Given the description of an element on the screen output the (x, y) to click on. 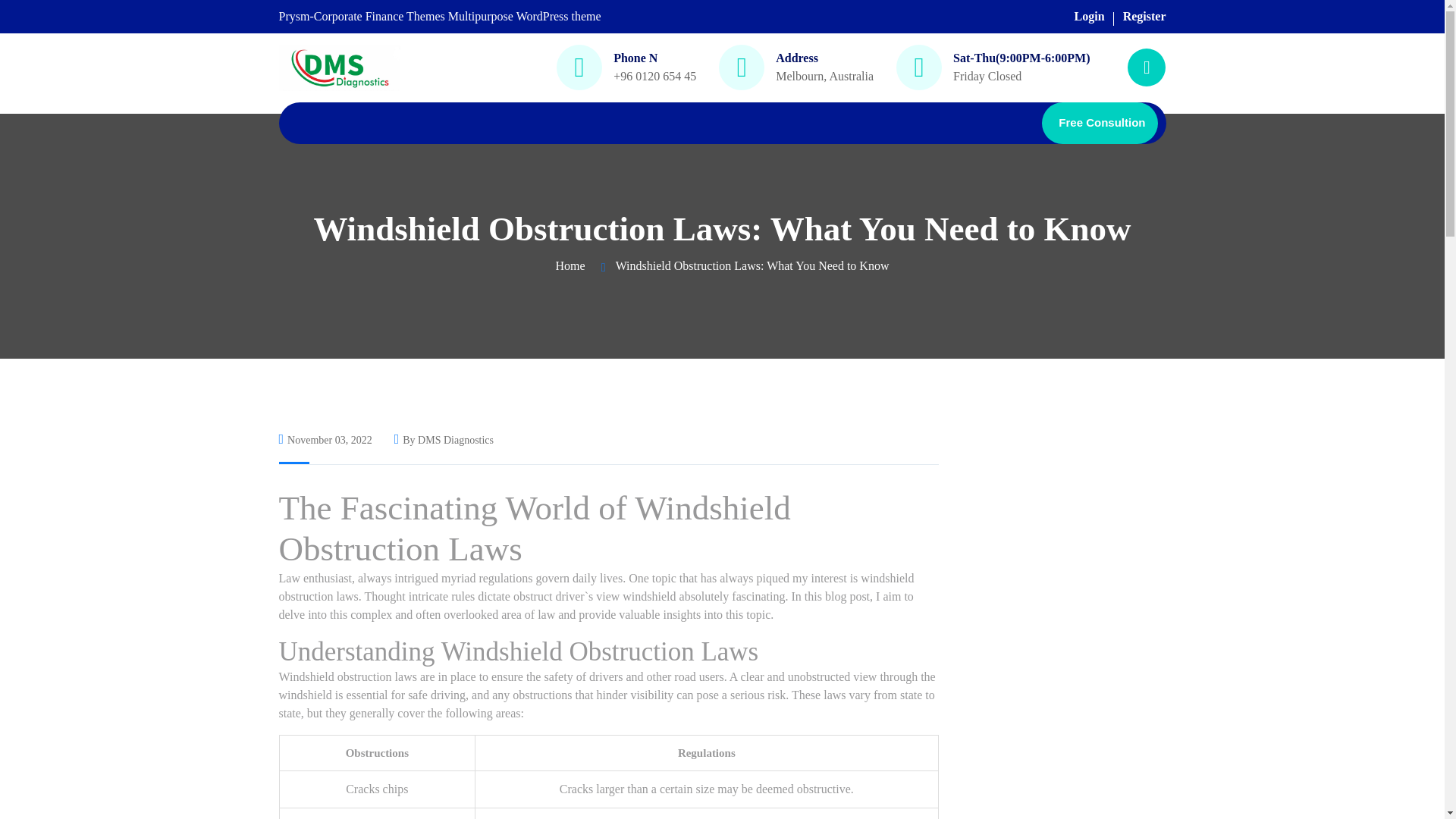
Free Consultion (1099, 123)
November 03, 2022 (325, 439)
Login (1089, 15)
Home (570, 265)
By DMS Diagnostics (443, 439)
Home (570, 265)
Register (1144, 15)
